Given the description of an element on the screen output the (x, y) to click on. 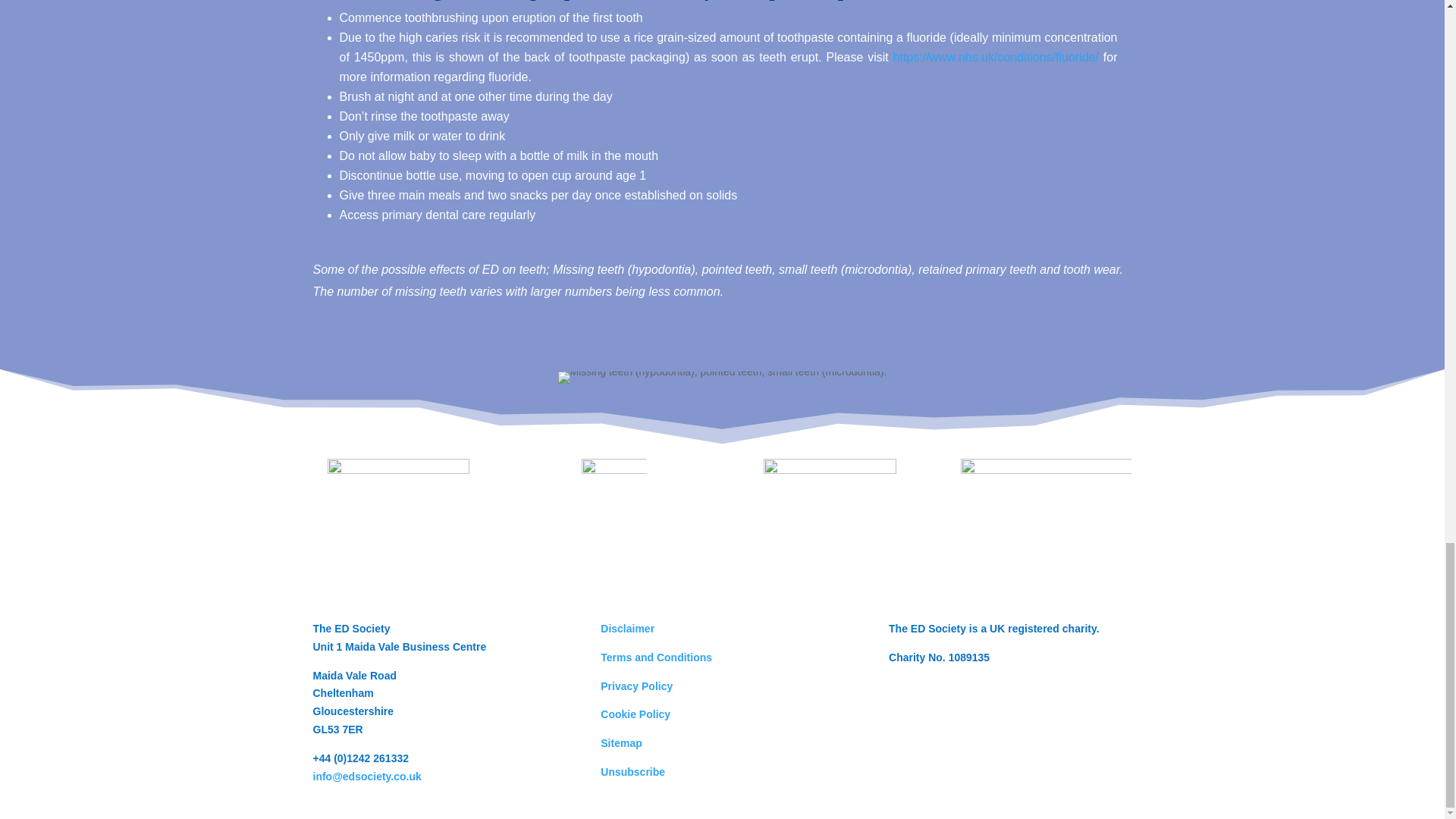
IP-Logo-2-copy (829, 524)
ectodermal-dysplasia-missing-teeth (721, 377)
